Given the description of an element on the screen output the (x, y) to click on. 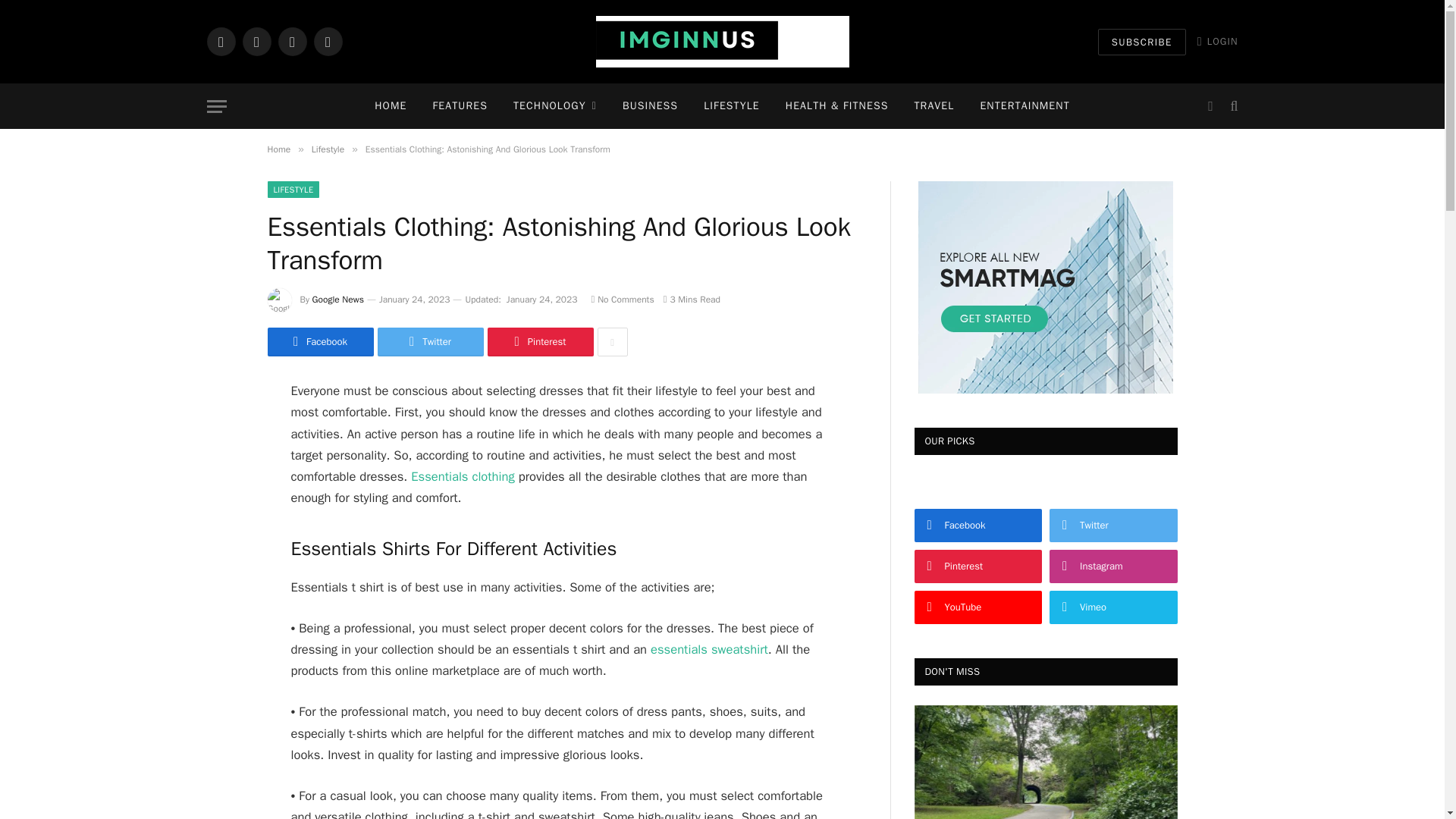
Share on Facebook (319, 341)
HOME (390, 105)
BUSINESS (650, 105)
Posts by Google News (338, 299)
Twitter (256, 41)
ENTERTAINMENT (1023, 105)
TECHNOLOGY (555, 105)
Switch to Dark Design - easier on eyes. (1209, 106)
Facebook (220, 41)
IMGINN (721, 41)
LOGIN (1217, 41)
SUBSCRIBE (1141, 41)
TRAVEL (933, 105)
Instagram (291, 41)
Vimeo (328, 41)
